Given the description of an element on the screen output the (x, y) to click on. 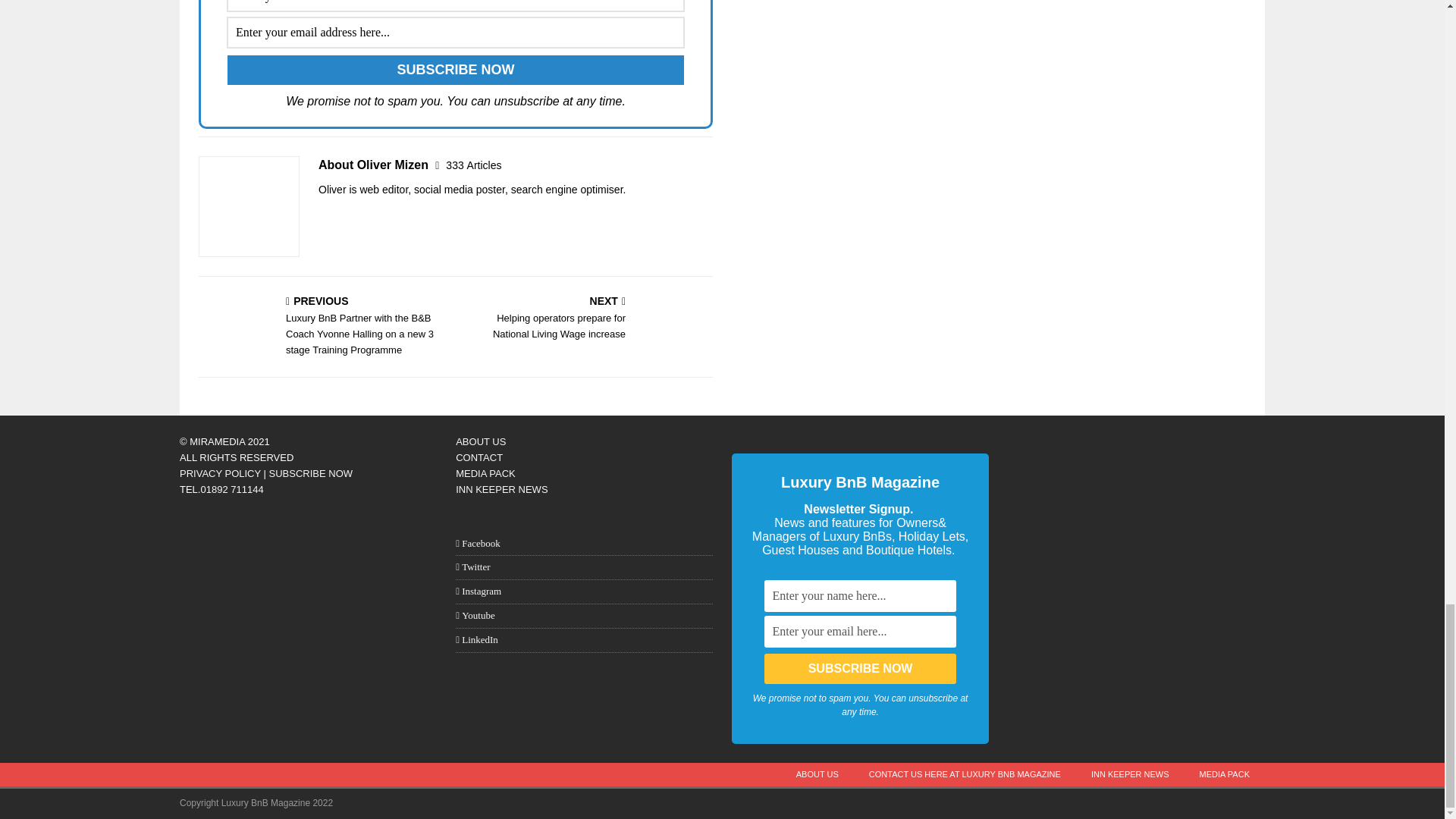
Subscribe Now (455, 70)
Subscribe Now (859, 668)
